Given the description of an element on the screen output the (x, y) to click on. 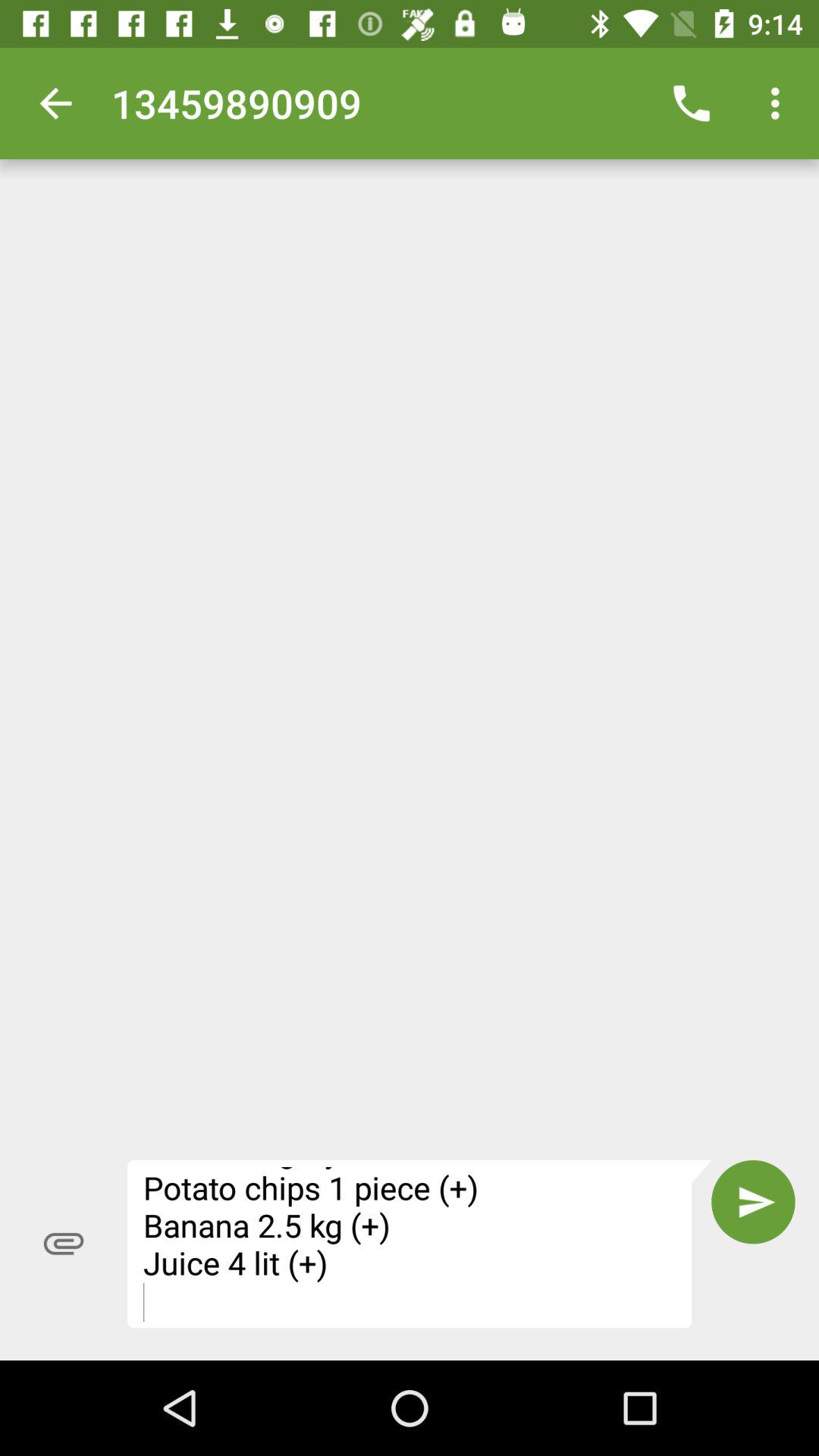
select the icon next to fivefly shopping list (63, 1243)
